Given the description of an element on the screen output the (x, y) to click on. 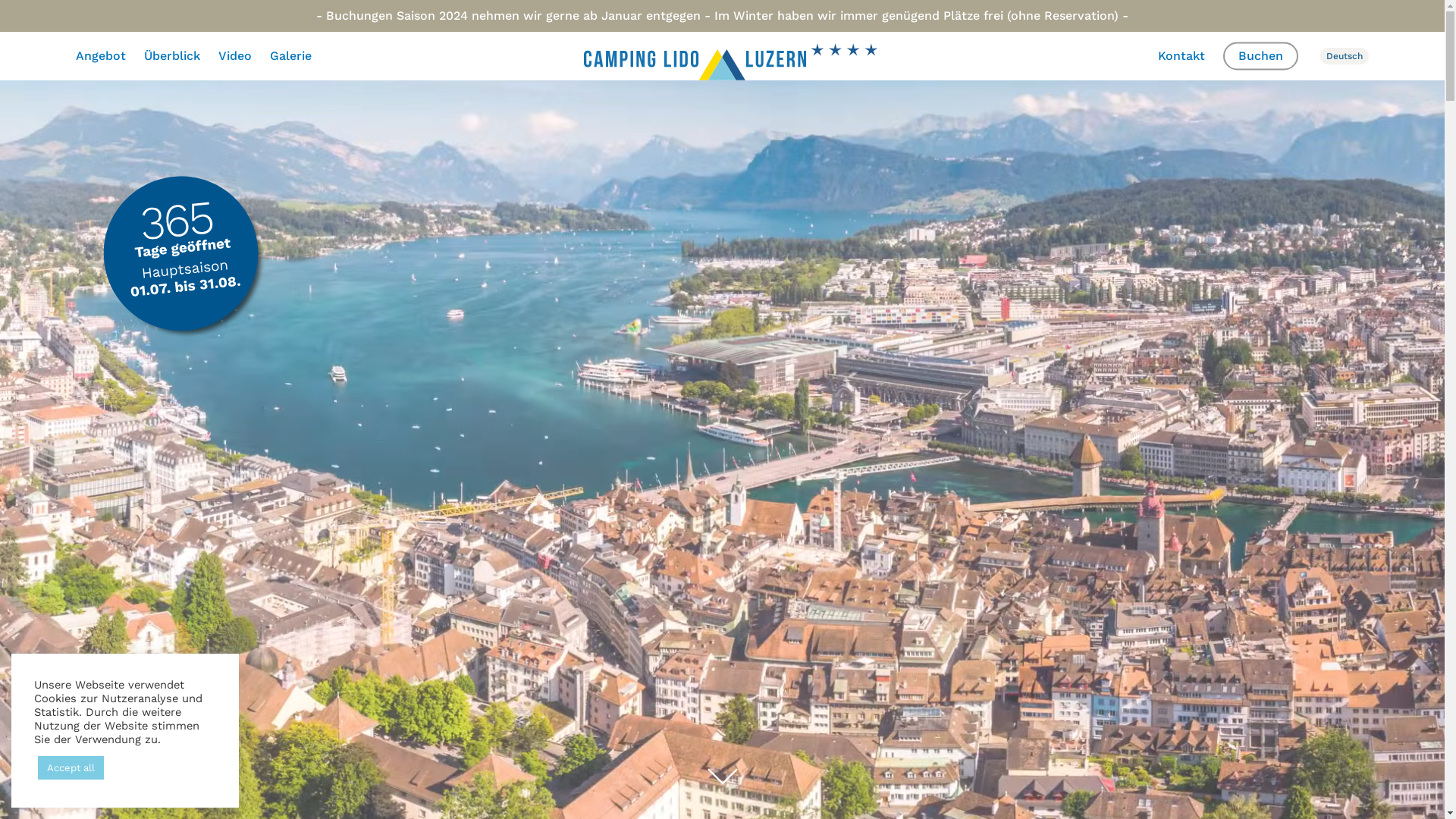
Buchen Element type: text (1260, 56)
Video Element type: text (234, 56)
Deutsch Element type: text (1337, 55)
Galerie Element type: text (290, 56)
Accept all Element type: text (70, 767)
Kontakt Element type: text (1181, 56)
Angebot Element type: text (104, 56)
